Given the description of an element on the screen output the (x, y) to click on. 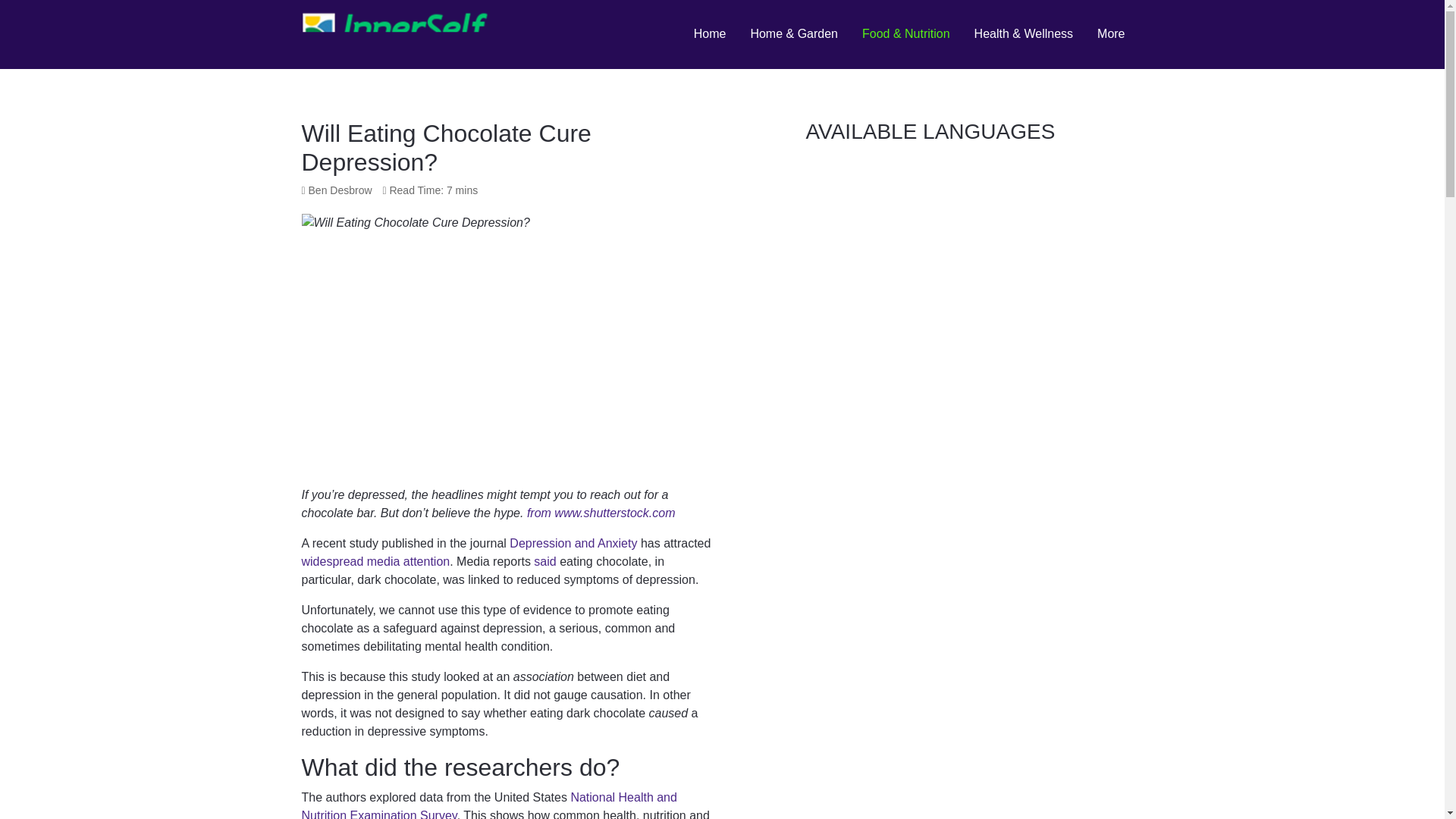
More (1110, 33)
Home (709, 33)
Home (709, 33)
